Given the description of an element on the screen output the (x, y) to click on. 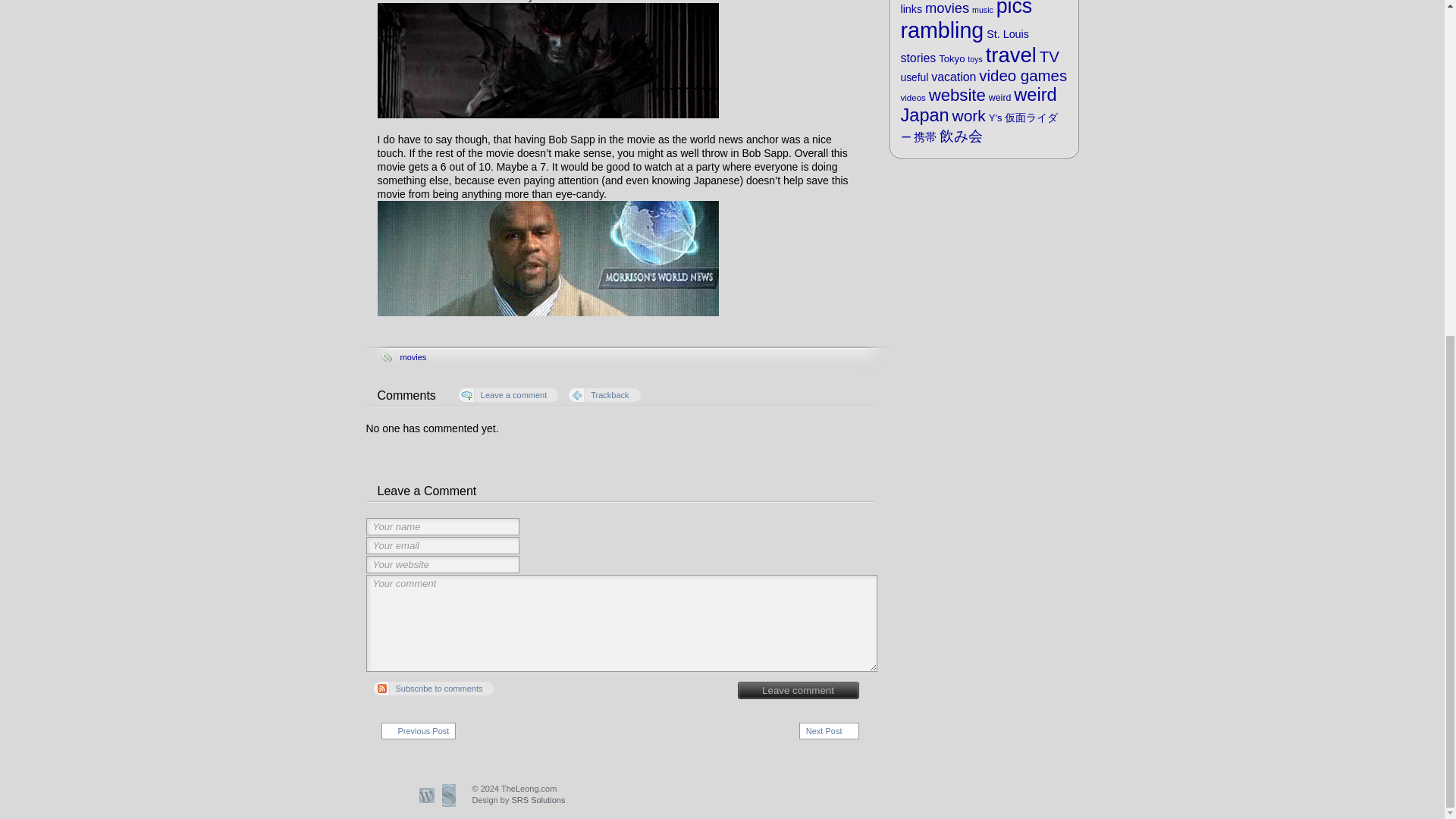
Your website (441, 564)
Web Design by SRS Solutions (517, 799)
Leave a comment (507, 395)
Your name (441, 526)
Subscribe to comments (432, 688)
Trackback (604, 395)
Previous Post (417, 730)
movies (413, 356)
Next Post (829, 730)
Leave comment (797, 690)
